Given the description of an element on the screen output the (x, y) to click on. 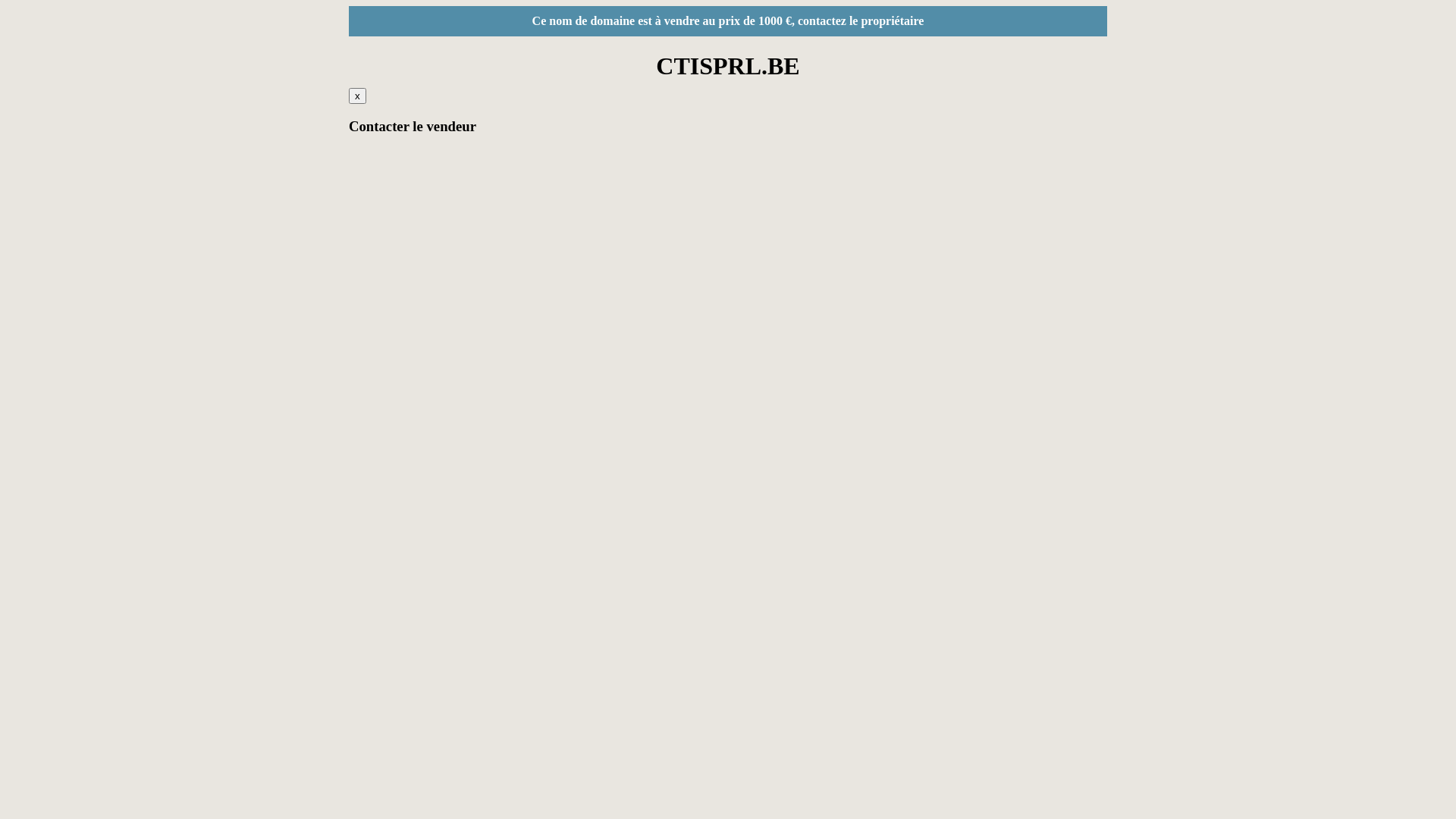
x Element type: text (357, 95)
